Given the description of an element on the screen output the (x, y) to click on. 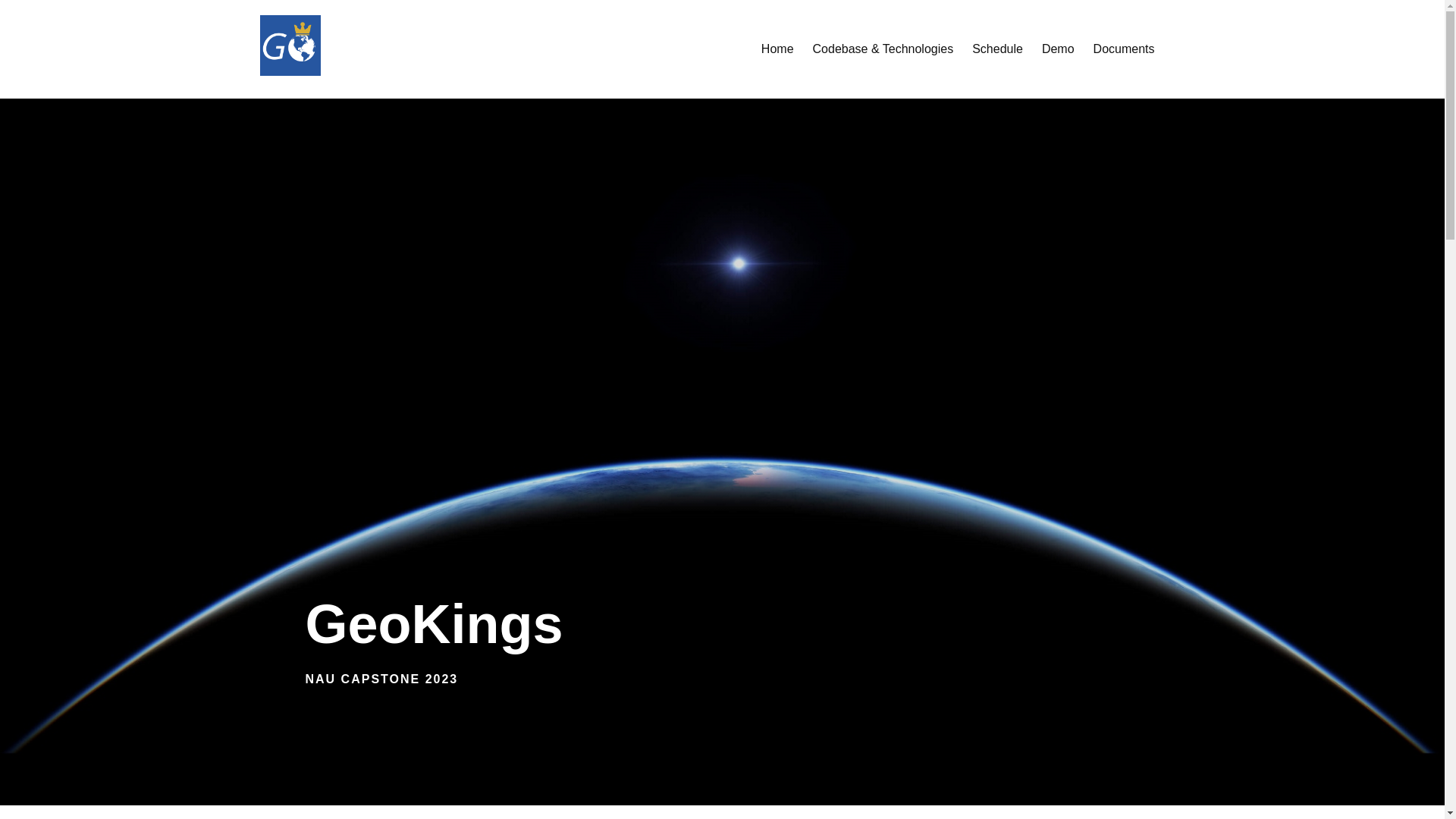
Demo (1058, 48)
Documents (1123, 48)
Home (777, 48)
Schedule (997, 48)
